Given the description of an element on the screen output the (x, y) to click on. 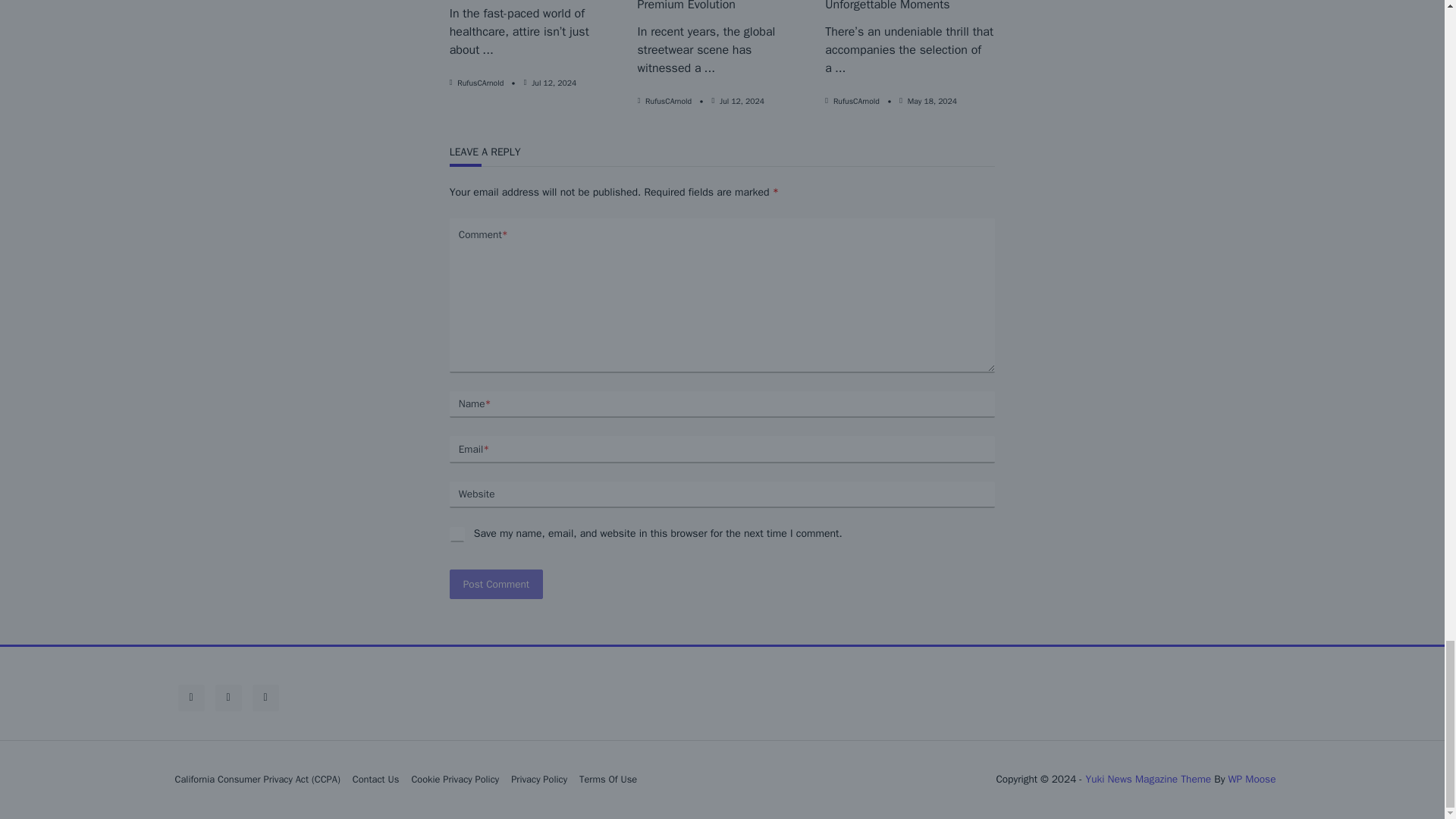
Post Comment (496, 583)
yes (456, 534)
